Given the description of an element on the screen output the (x, y) to click on. 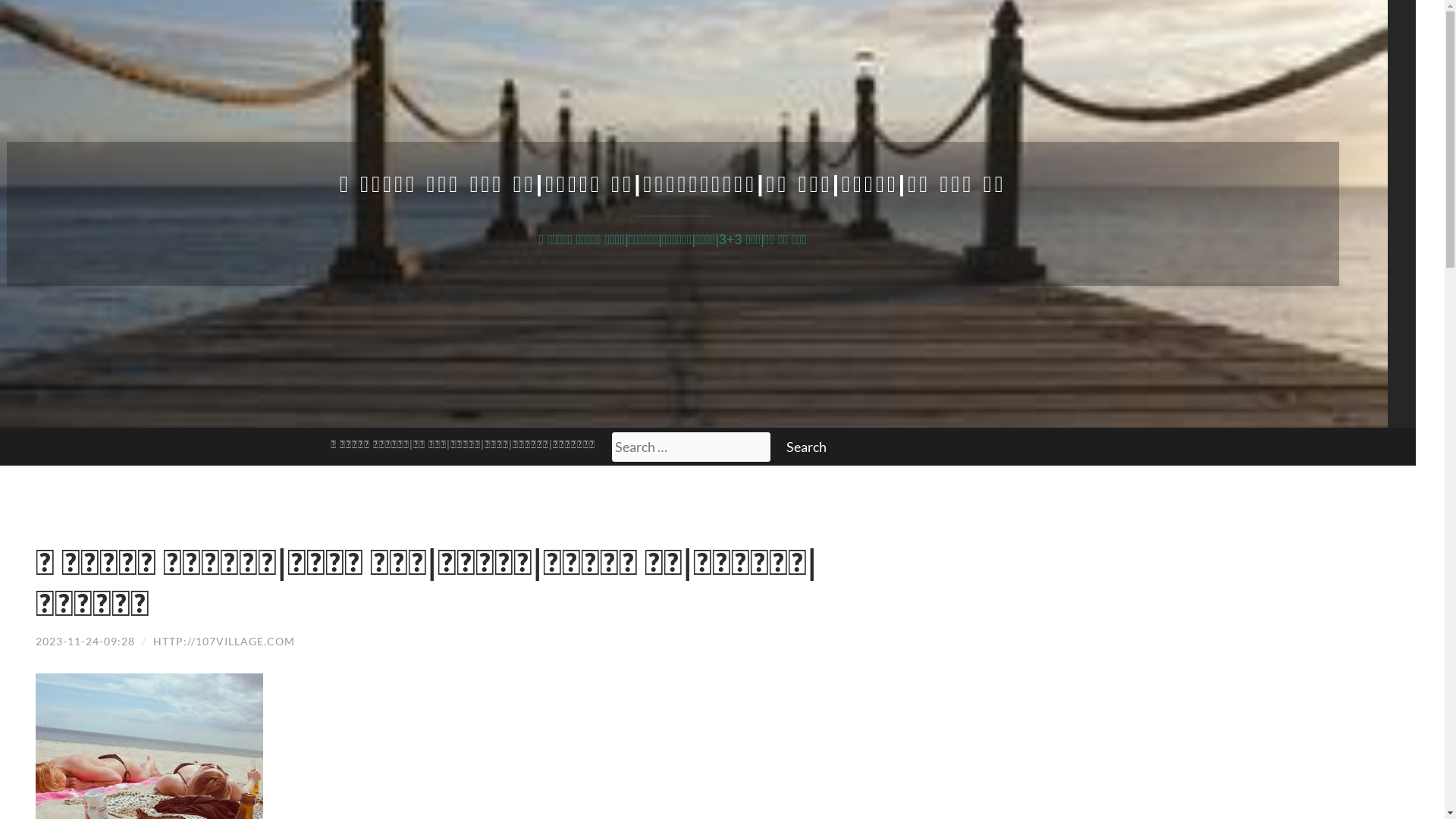
Search for: Element type: hover (690, 446)
HTTP://107VILLAGE.COM Element type: text (223, 640)
2023-11-24-09:28 Element type: text (84, 640)
Search Element type: text (806, 446)
SKIP TO CONTENT Element type: text (65, 448)
